Given the description of an element on the screen output the (x, y) to click on. 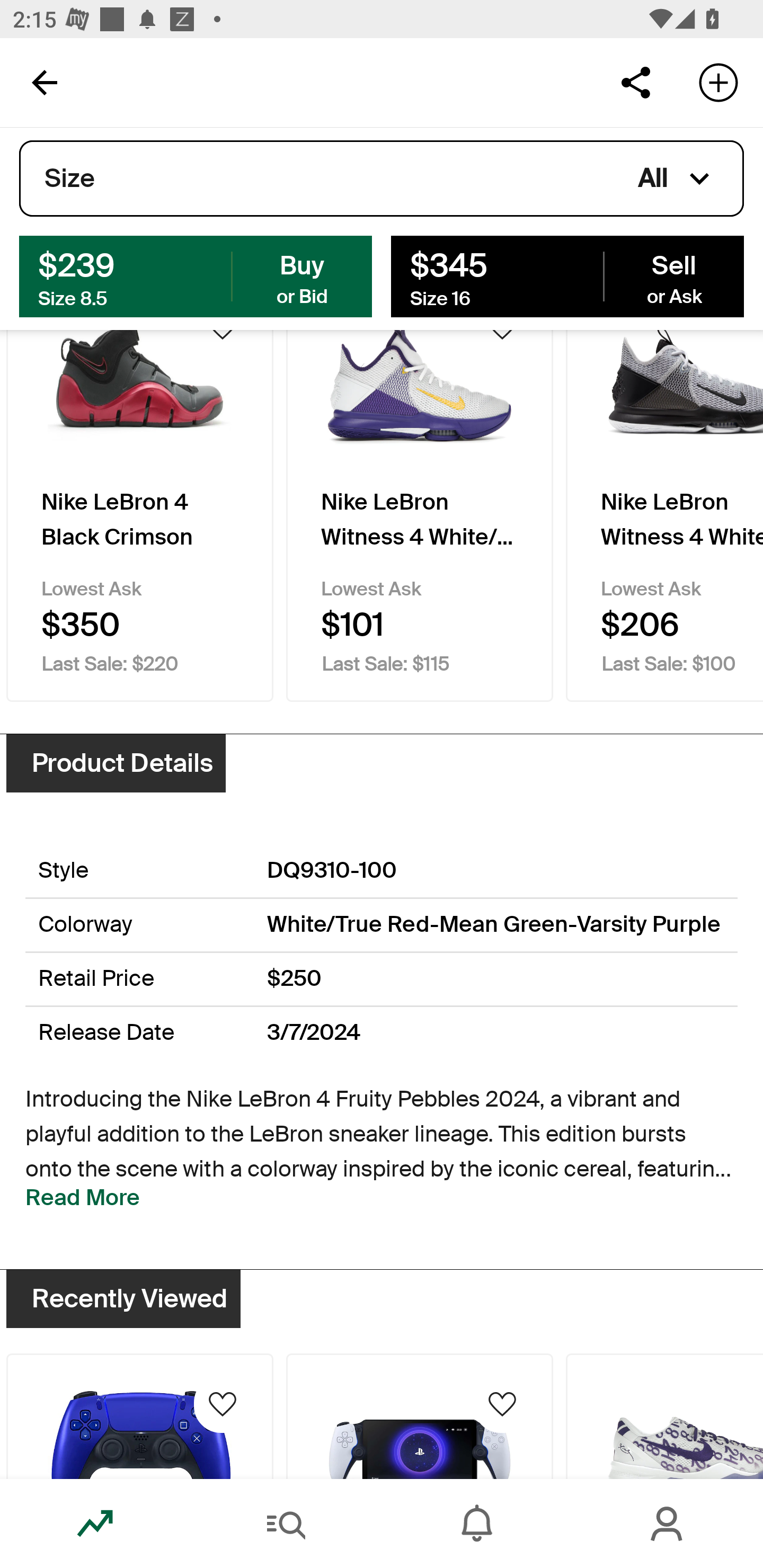
Share (635, 81)
Add (718, 81)
Size All (381, 178)
$239 Buy Size 8.5 or Bid (195, 275)
$345 Sell Size 16 or Ask (566, 275)
Read More (82, 1197)
Product Image (139, 1415)
Product Image (419, 1415)
Product Image (664, 1415)
Search (285, 1523)
Inbox (476, 1523)
Account (667, 1523)
